Given the description of an element on the screen output the (x, y) to click on. 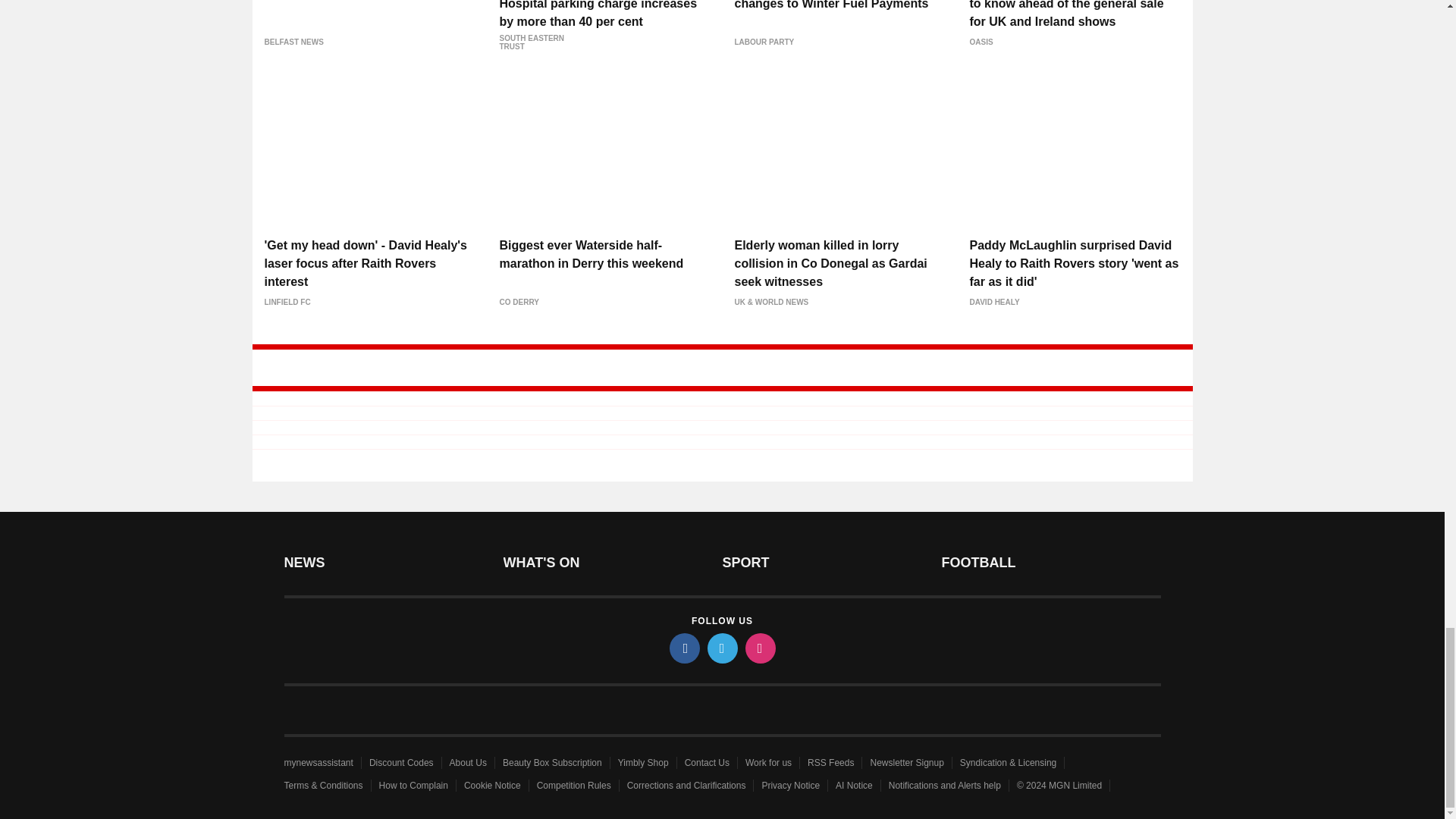
instagram (759, 648)
twitter (721, 648)
facebook (683, 648)
